Given the description of an element on the screen output the (x, y) to click on. 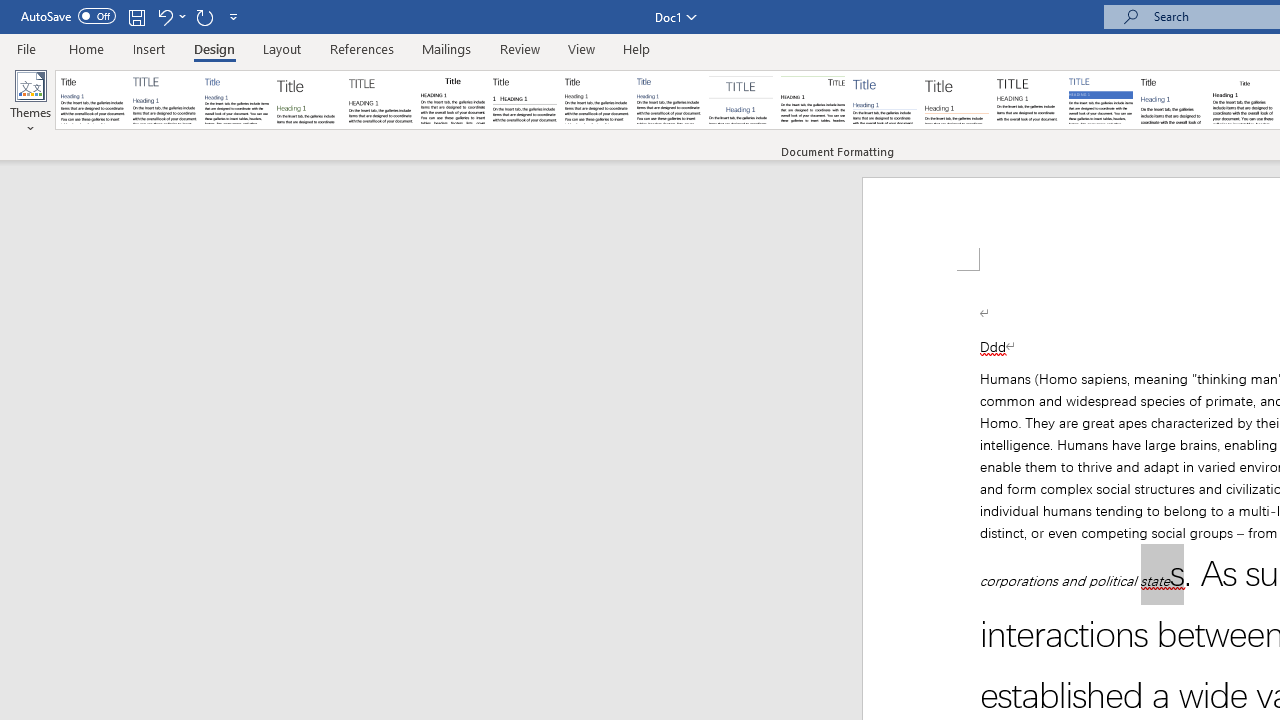
Centered (740, 100)
More Options (182, 15)
Casual (669, 100)
System (10, 11)
Repeat Accessibility Checker (204, 15)
Themes (30, 102)
Customize Quick Access Toolbar (234, 15)
Quick Access Toolbar (131, 16)
Lines (Distinctive) (812, 100)
Shaded (1100, 100)
View (582, 48)
Layout (282, 48)
Basic (Elegant) (164, 100)
Lines (Stylish) (957, 100)
Black & White (Word 2013) (596, 100)
